Given the description of an element on the screen output the (x, y) to click on. 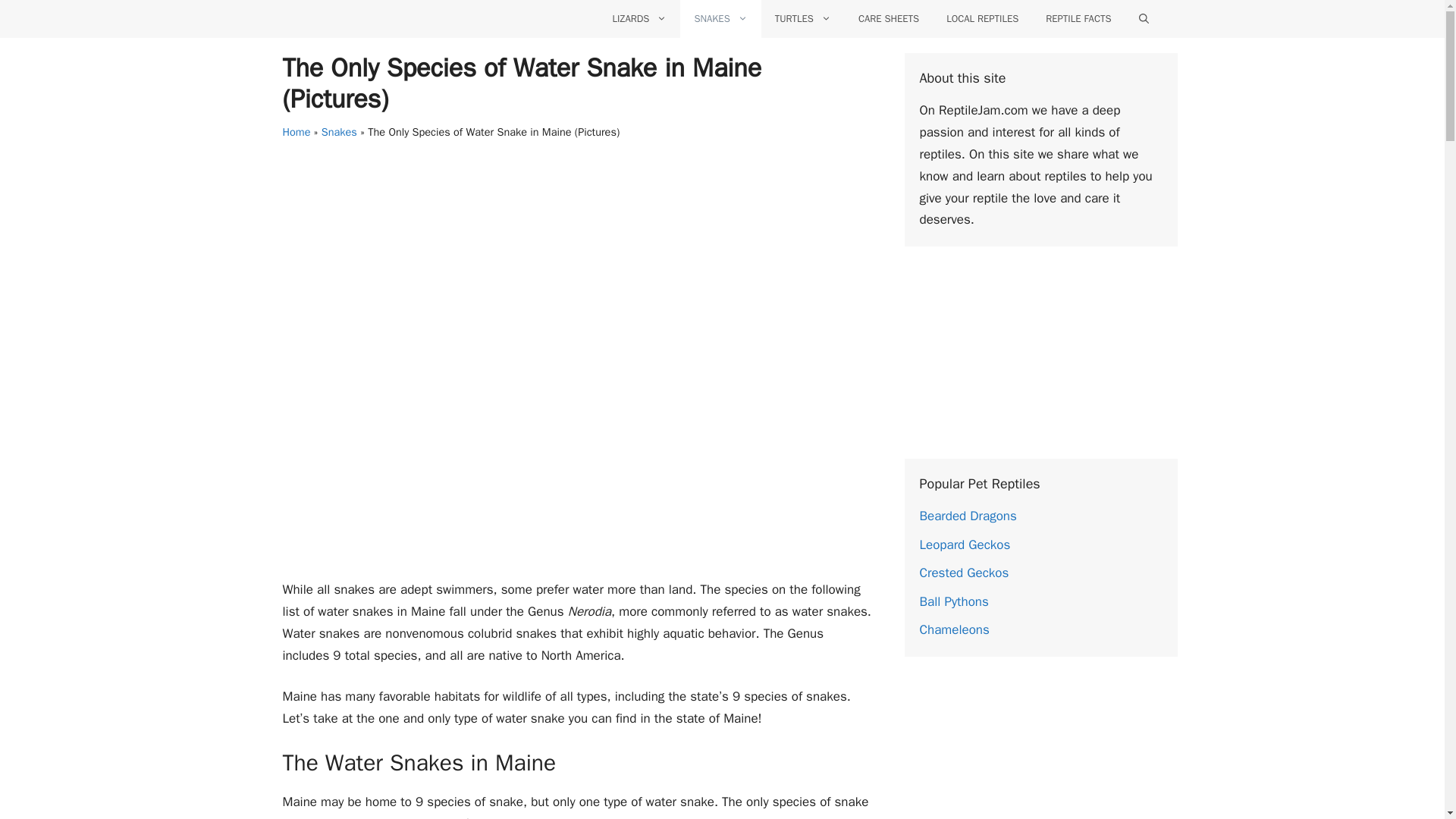
LIZARDS (639, 18)
Reptile Jam (361, 18)
SNAKES (719, 18)
TURTLES (802, 18)
